Given the description of an element on the screen output the (x, y) to click on. 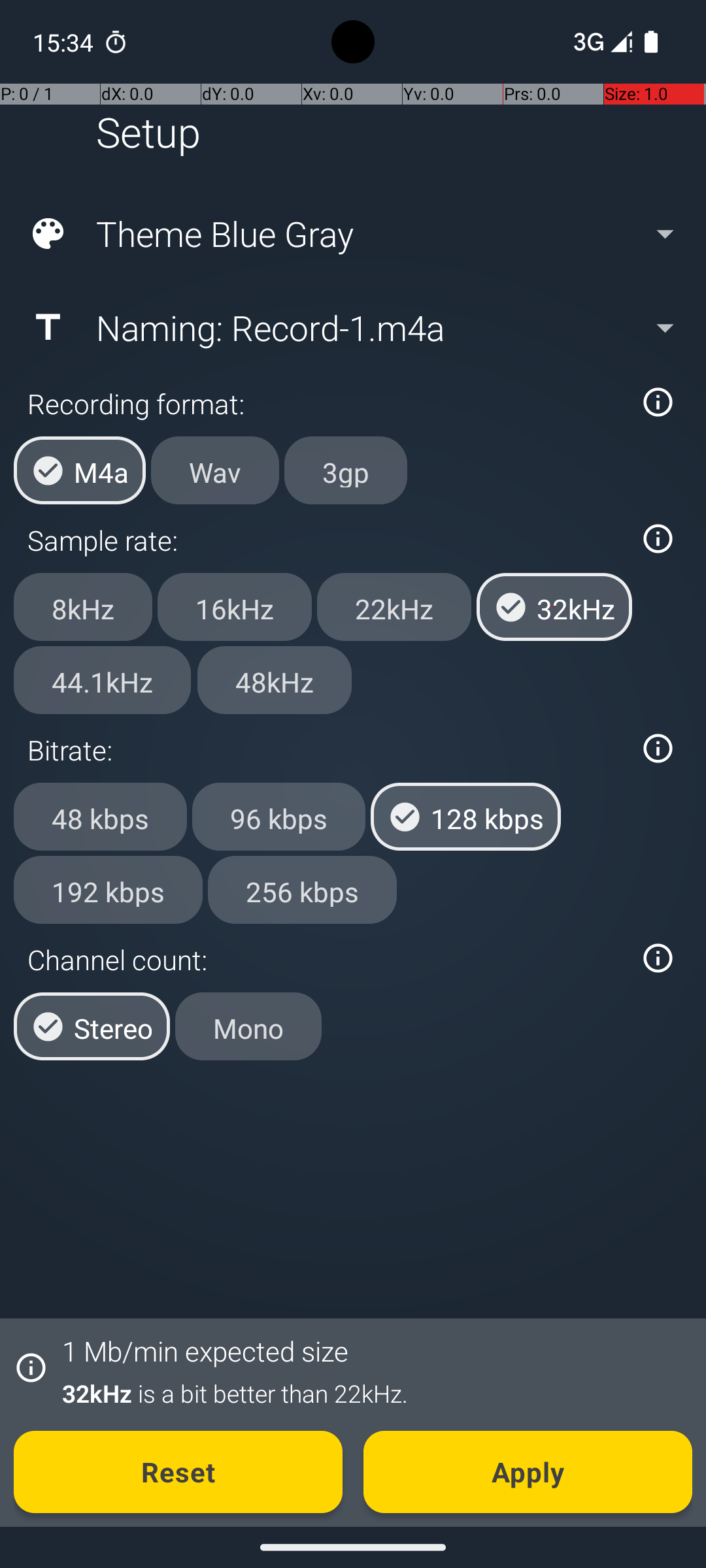
32kHz is a bit better than 22kHz. Element type: android.widget.TextView (370, 1392)
